Given the description of an element on the screen output the (x, y) to click on. 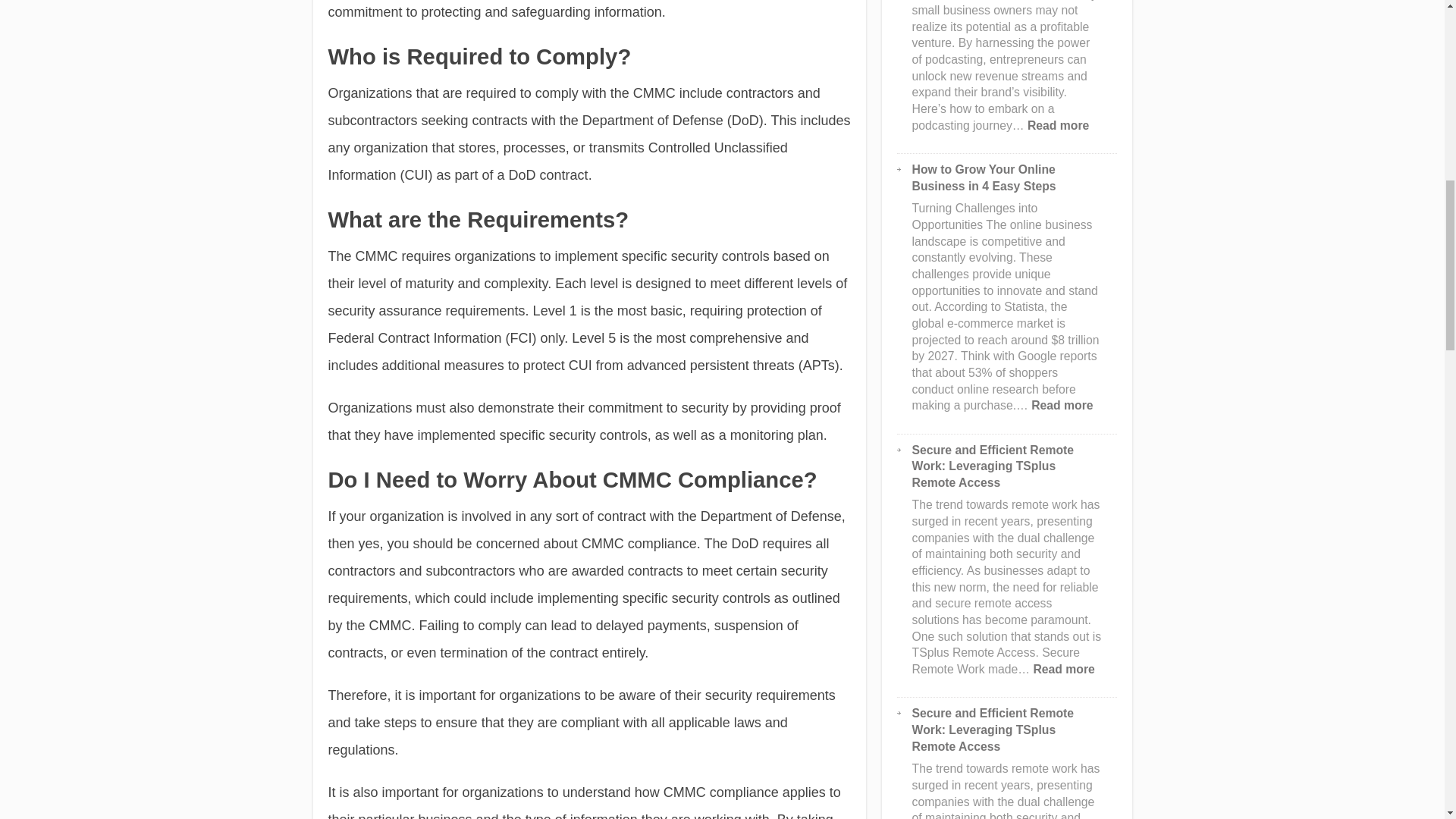
How to Grow Your Online Business in 4 Easy Steps (984, 177)
